Given the description of an element on the screen output the (x, y) to click on. 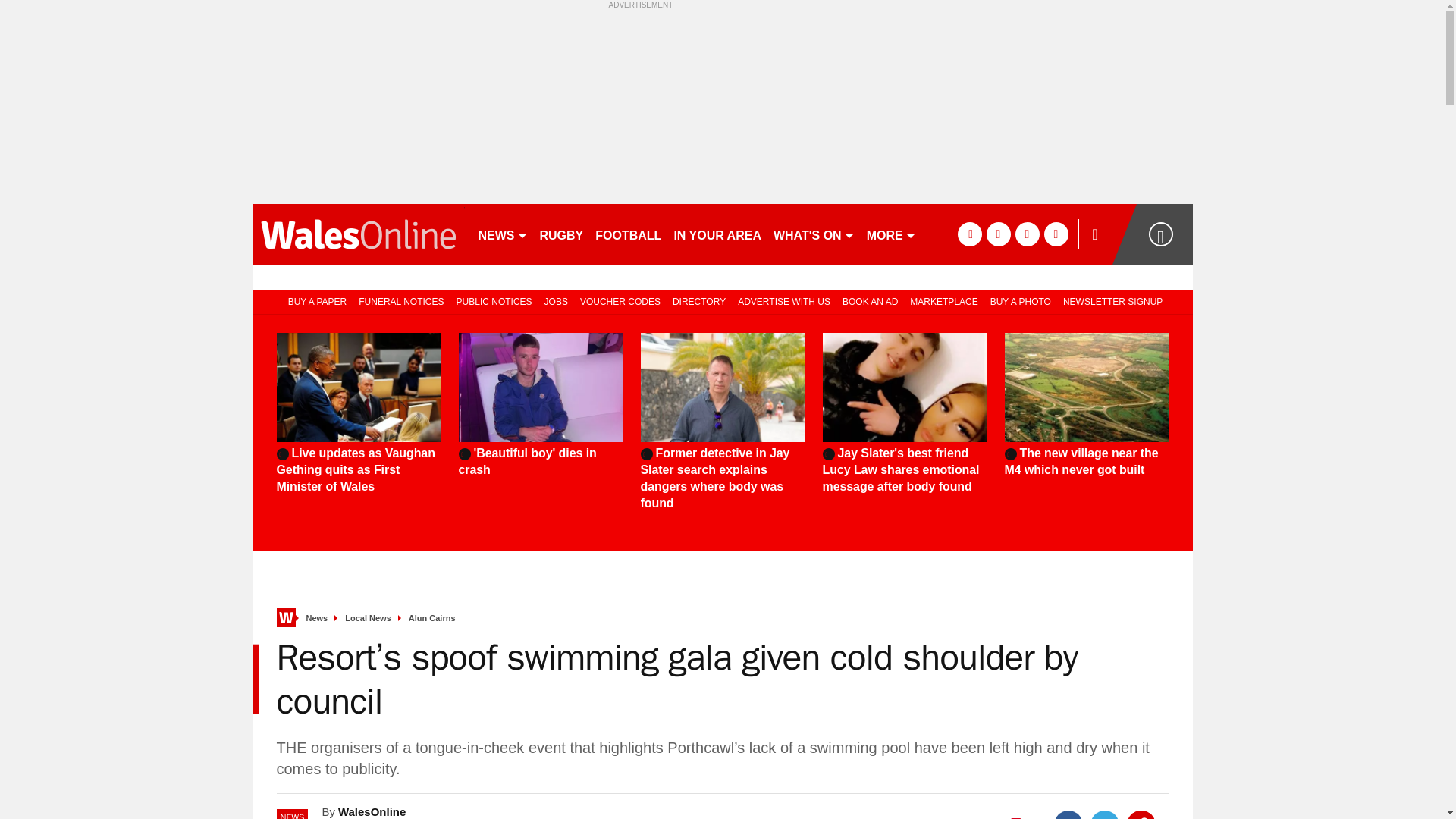
3rd party ad content (721, 103)
twitter (997, 233)
WHAT'S ON (813, 233)
RUGBY (561, 233)
IN YOUR AREA (716, 233)
NEWS (501, 233)
walesonline (357, 233)
facebook (968, 233)
instagram (1055, 233)
Facebook (1068, 814)
Twitter (1104, 814)
MORE (890, 233)
FOOTBALL (627, 233)
pinterest (1026, 233)
